Given the description of an element on the screen output the (x, y) to click on. 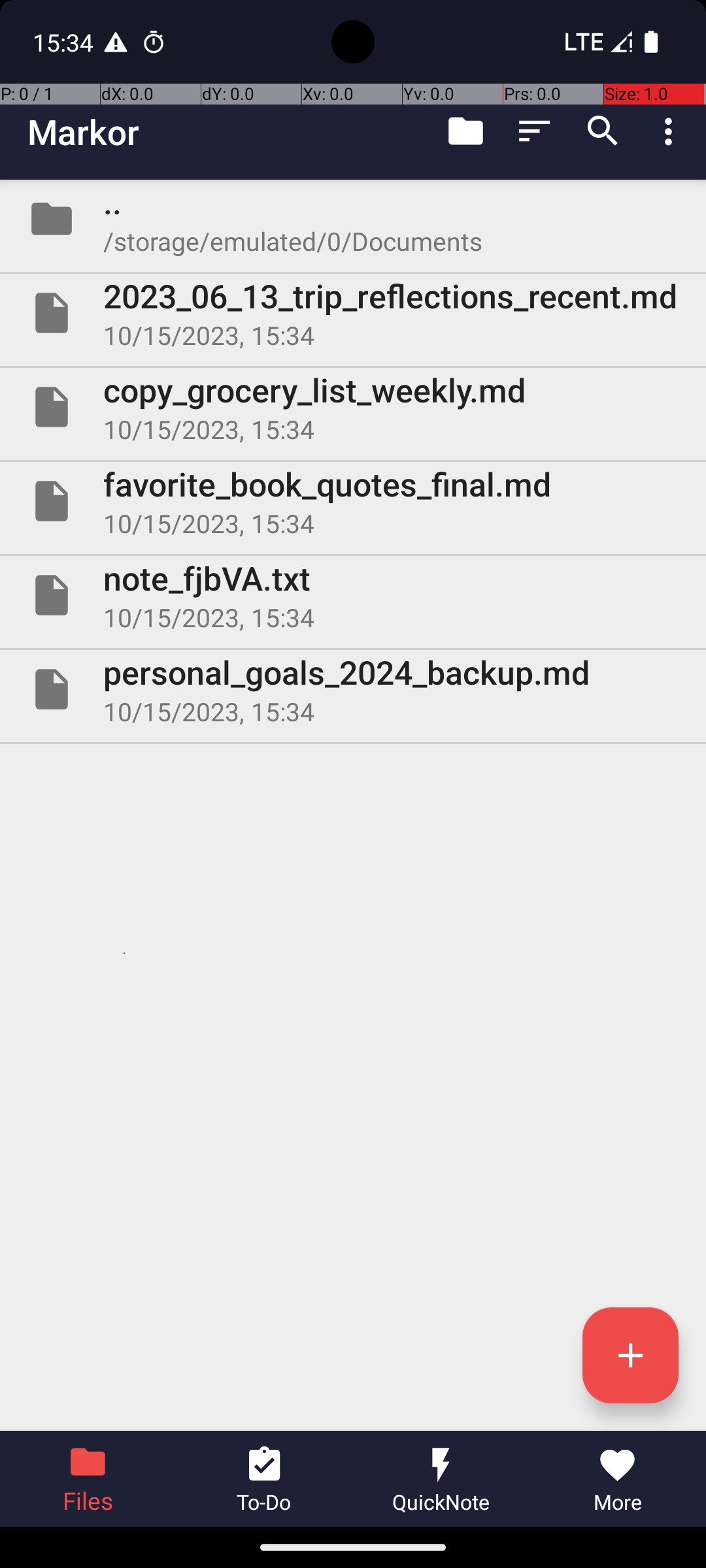
File 2023_06_13_trip_reflections_recent.md  Element type: android.widget.LinearLayout (353, 312)
File copy_grocery_list_weekly.md  Element type: android.widget.LinearLayout (353, 406)
File favorite_book_quotes_final.md  Element type: android.widget.LinearLayout (353, 500)
File note_fjbVA.txt  Element type: android.widget.LinearLayout (353, 594)
File personal_goals_2024_backup.md  Element type: android.widget.LinearLayout (353, 689)
